Given the description of an element on the screen output the (x, y) to click on. 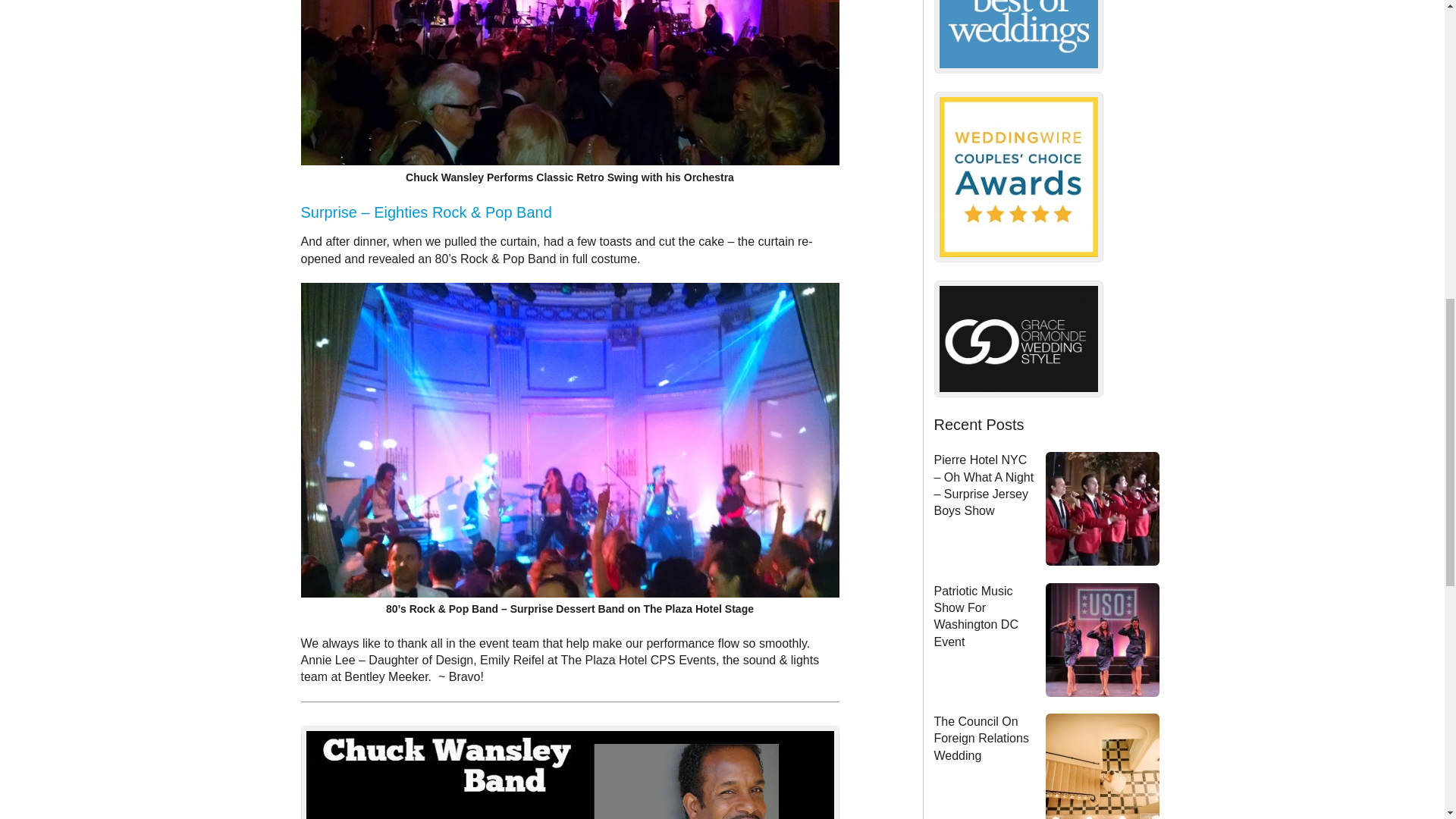
The Council On Foreign Relations Wedding (1096, 766)
Patriotic Music Show For Washington DC Event (1096, 640)
The Council On Foreign Relations Wedding (981, 738)
Patriotic Music Show For Washington DC Event (975, 616)
